Given the description of an element on the screen output the (x, y) to click on. 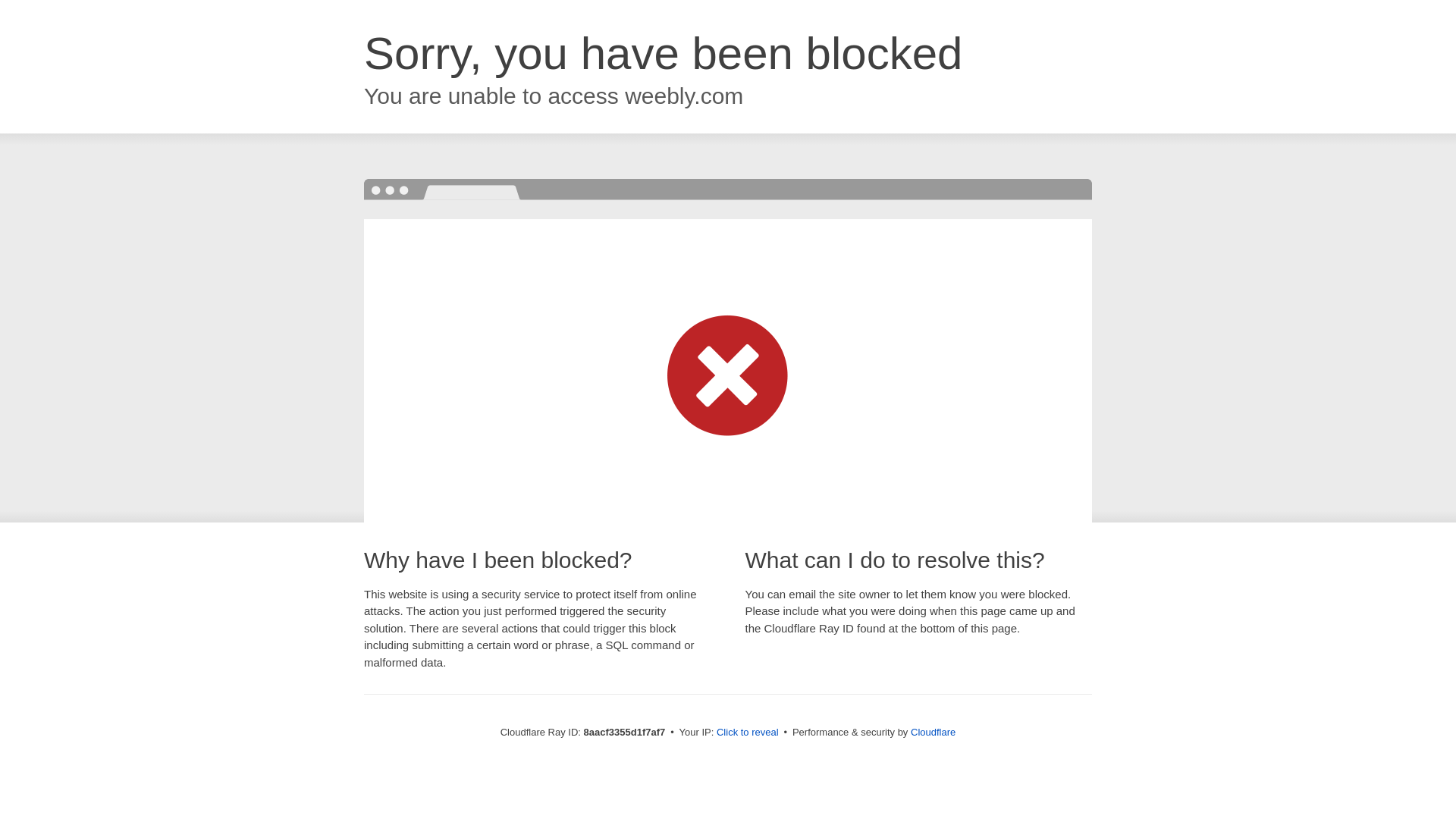
Cloudflare (933, 731)
Click to reveal (747, 732)
